Given the description of an element on the screen output the (x, y) to click on. 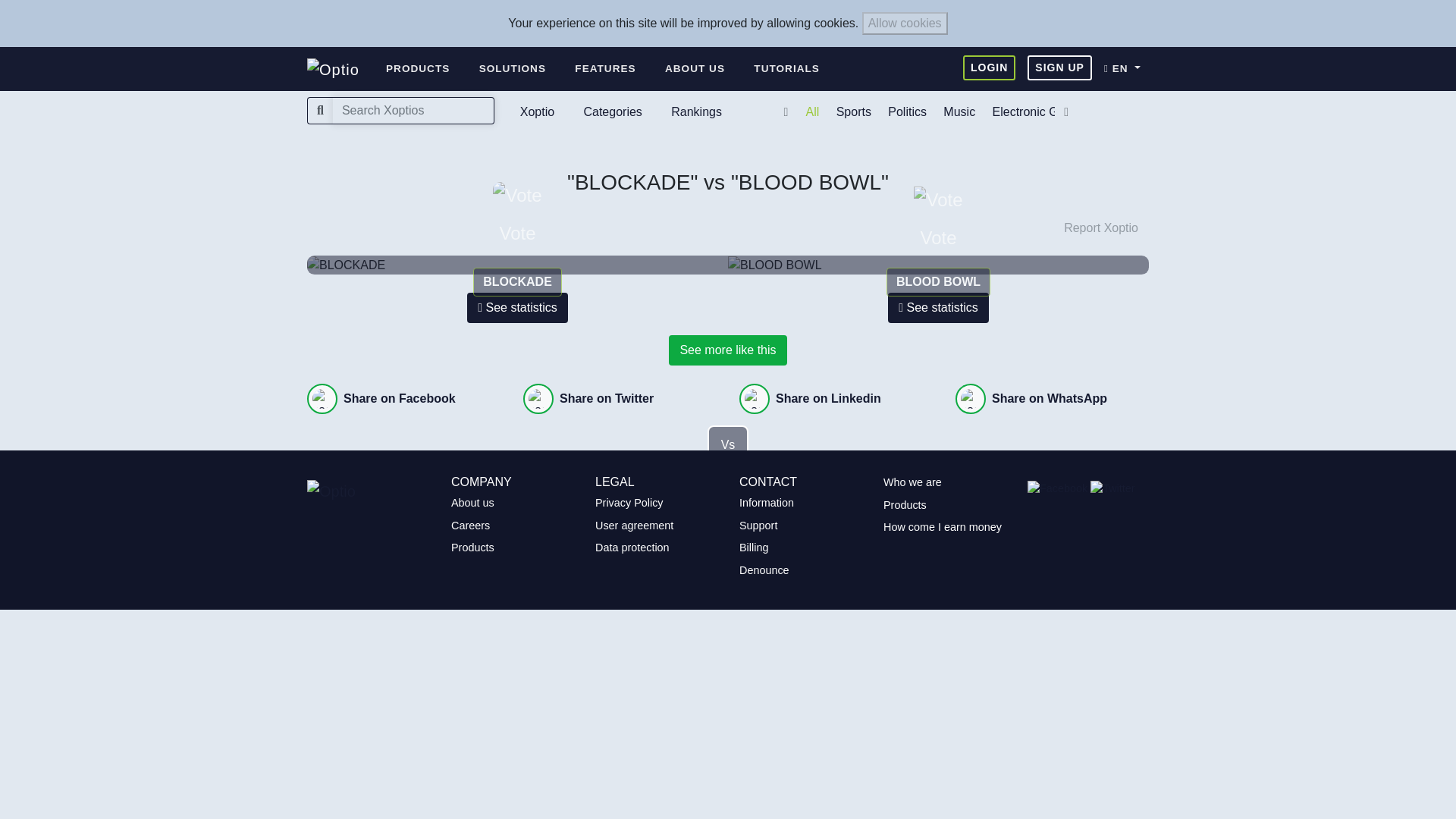
ABOUT US (694, 68)
Allow cookies (904, 23)
LOGIN (988, 67)
SIGN UP (1059, 67)
FEATURES (605, 68)
EN (1125, 68)
SOLUTIONS (512, 68)
PRODUCTS (417, 68)
TUTORIALS (786, 68)
